Given the description of an element on the screen output the (x, y) to click on. 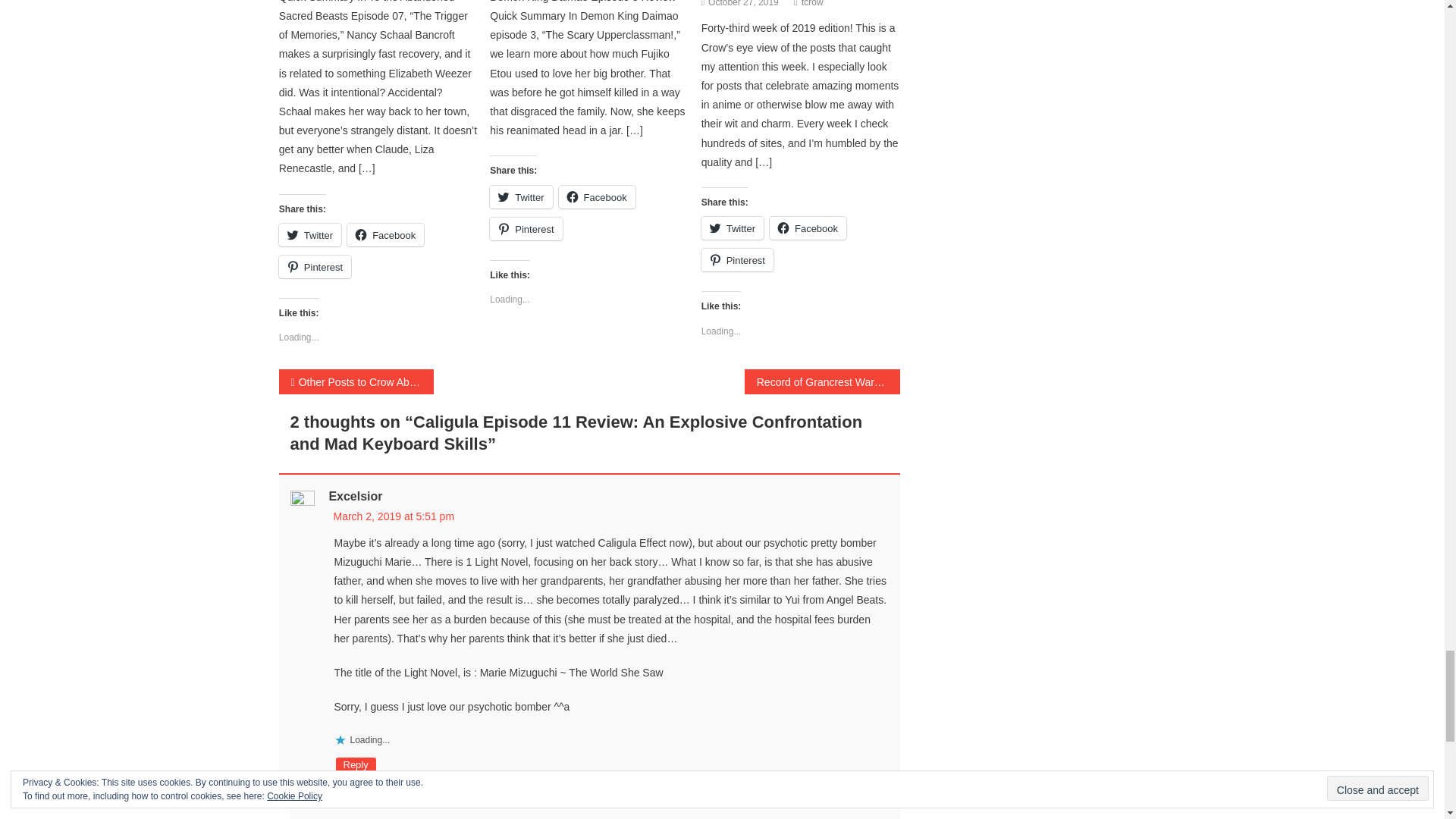
Click to share on Twitter (309, 234)
Click to share on Facebook (385, 234)
Click to share on Pinterest (314, 266)
